Given the description of an element on the screen output the (x, y) to click on. 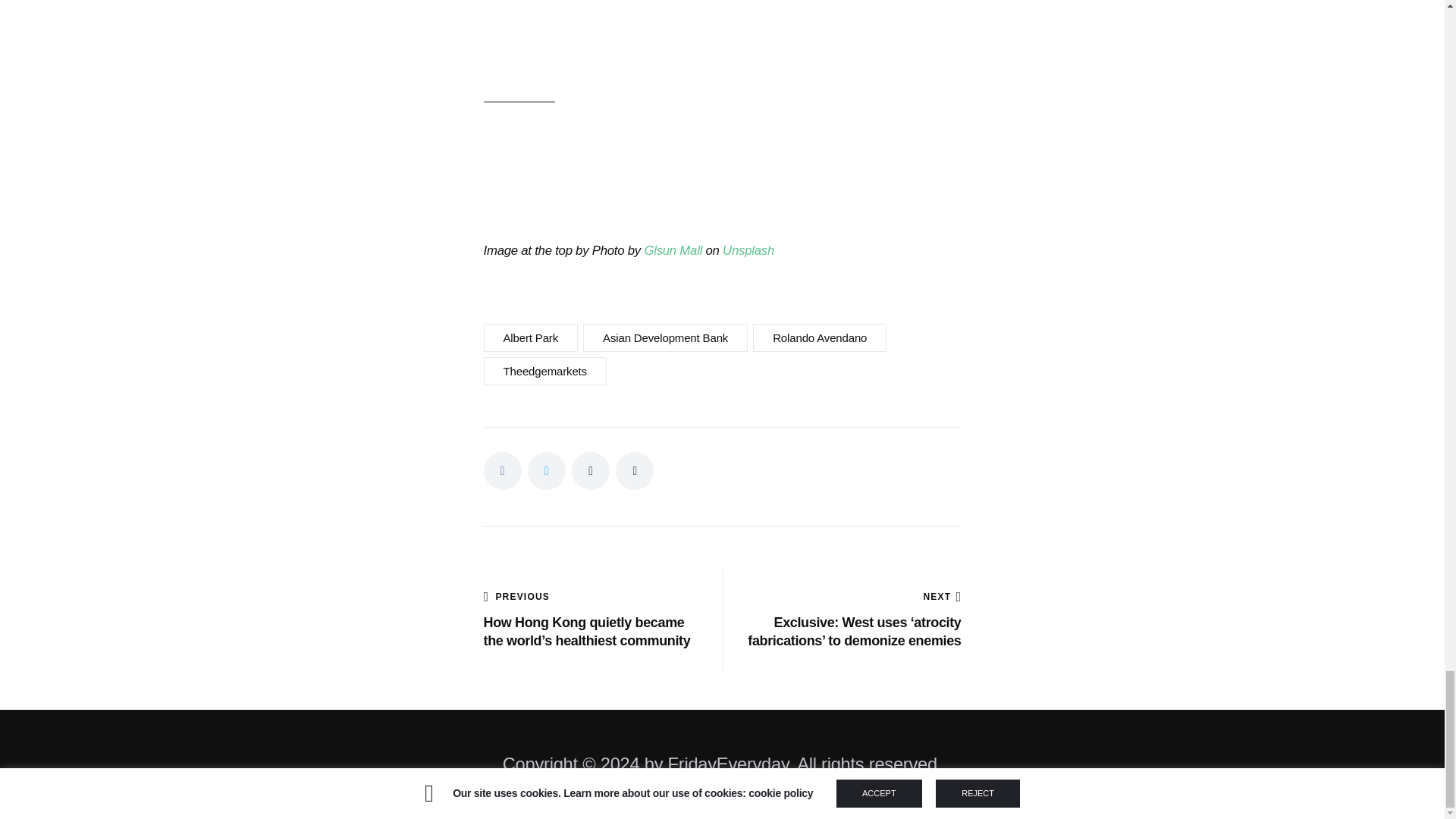
Copy URL to clipboard (634, 470)
